Given the description of an element on the screen output the (x, y) to click on. 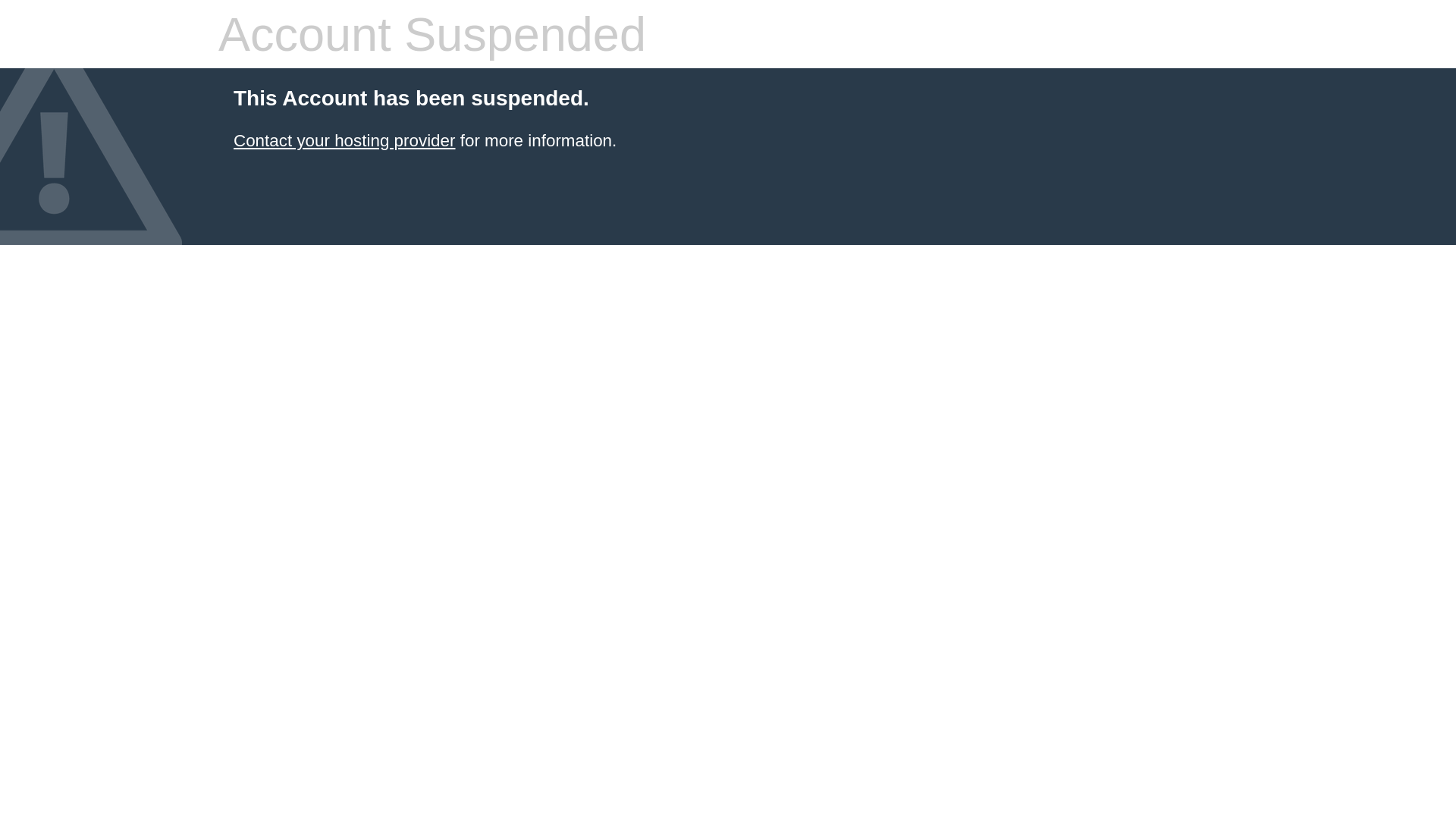
Contact your hosting provider Element type: text (344, 140)
